Given the description of an element on the screen output the (x, y) to click on. 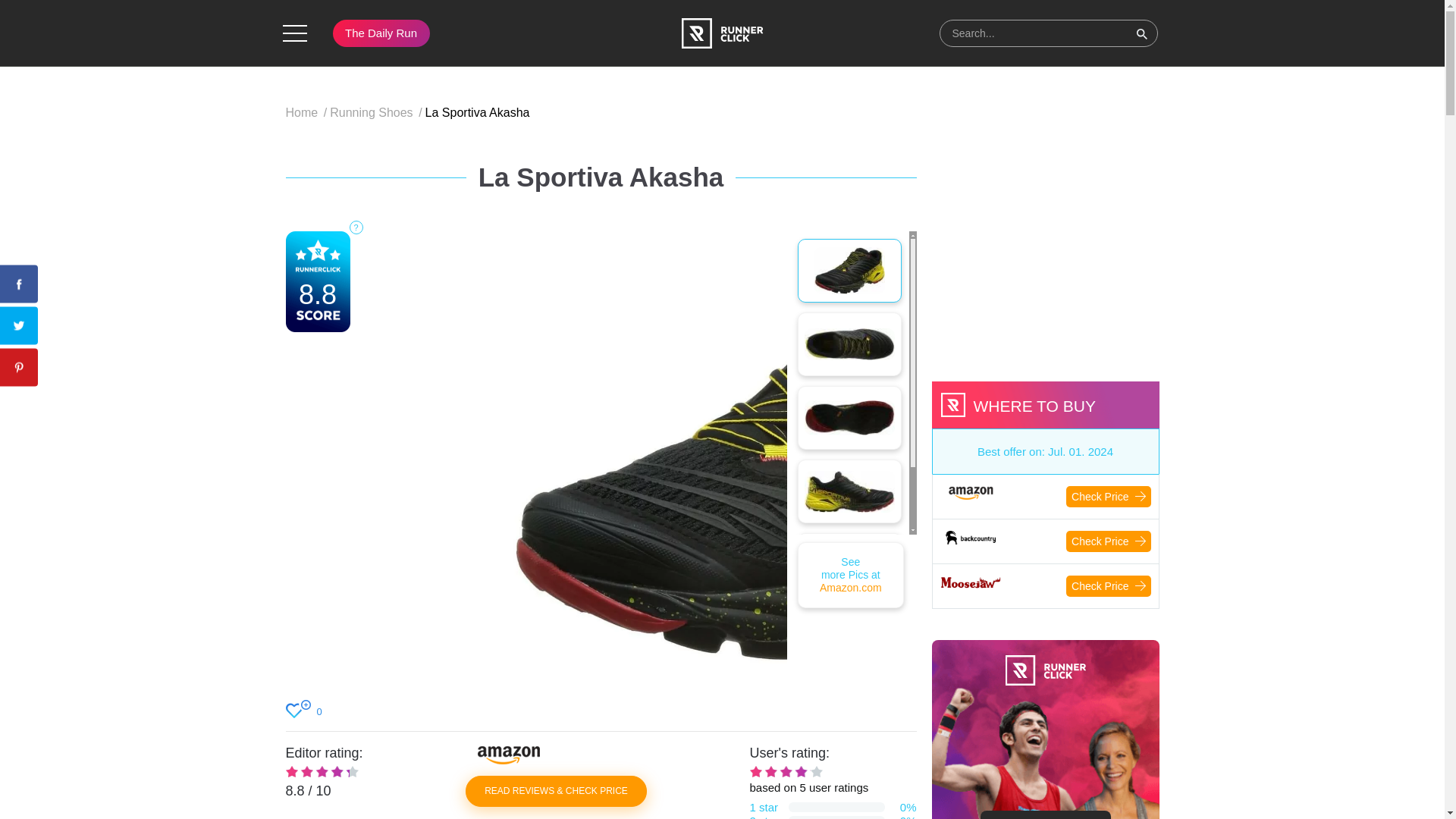
The Daily Run (380, 32)
Running Shoes (377, 112)
Rated 8.8 out of 10 (849, 574)
Home (321, 771)
Rated 4.2 out of 5 (307, 112)
RunnerClick (785, 771)
